Given the description of an element on the screen output the (x, y) to click on. 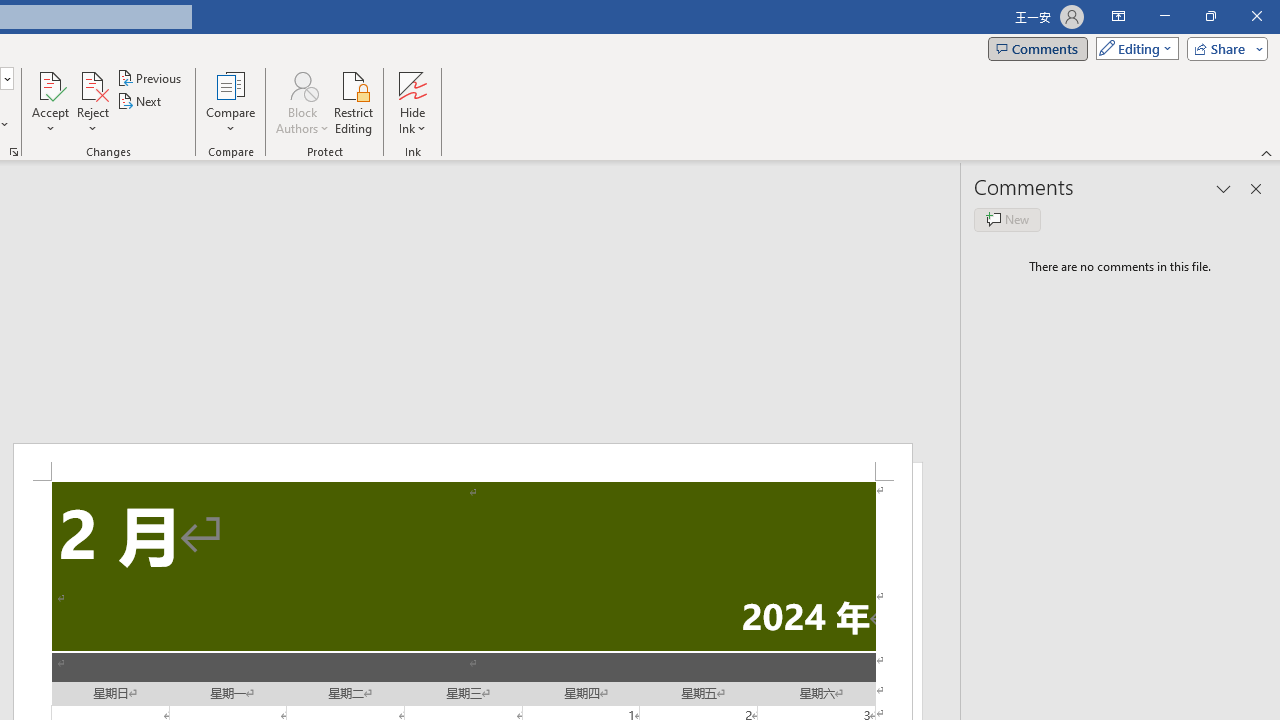
Previous (150, 78)
Next (140, 101)
Block Authors (302, 102)
Header -Section 2- (462, 461)
Reject (92, 102)
